Given the description of an element on the screen output the (x, y) to click on. 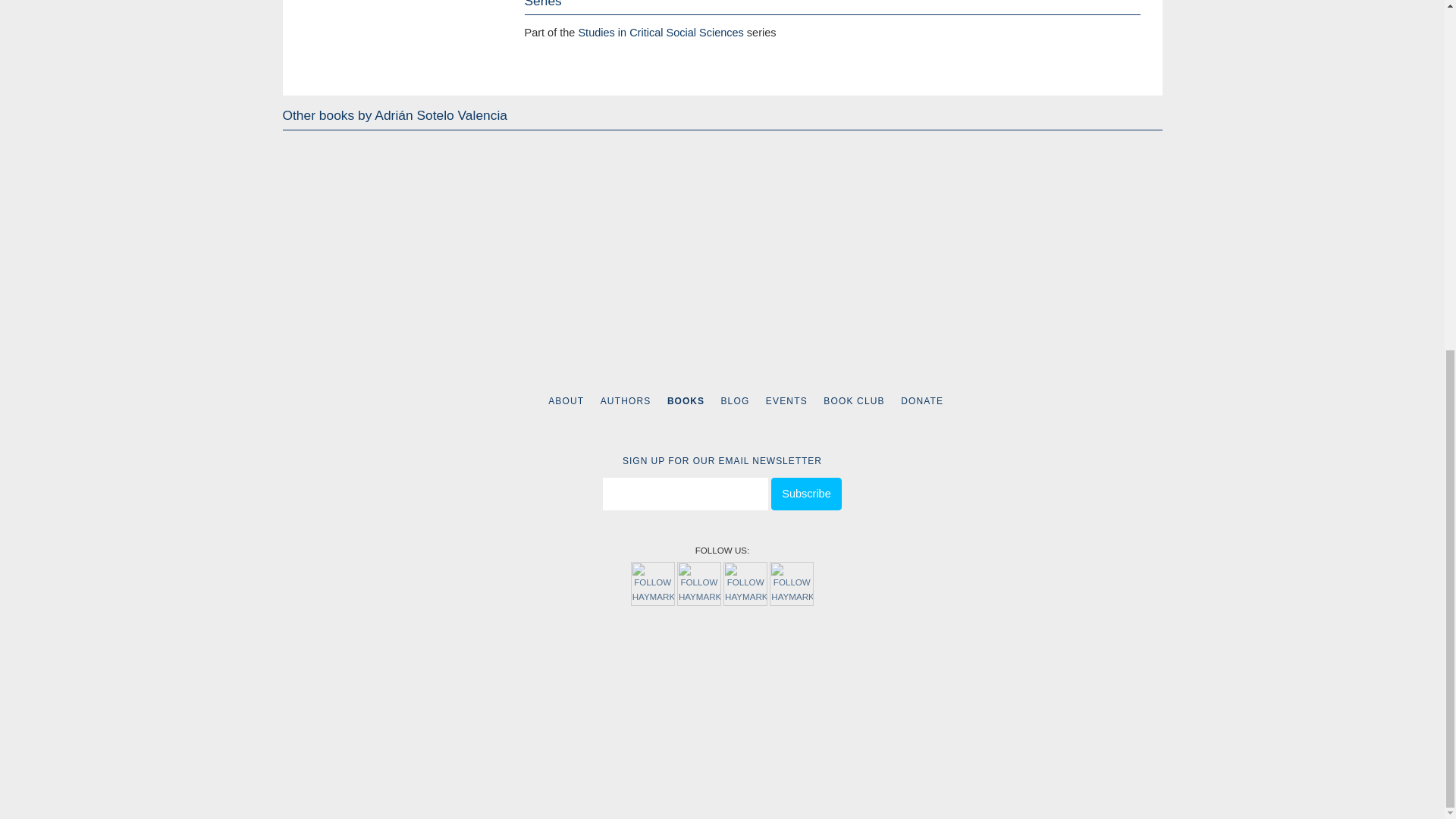
Subscribe (806, 493)
EVENTS (786, 400)
ABOUT (565, 400)
Studies in Critical Social Sciences (660, 32)
BLOG (734, 400)
BOOK CLUB (853, 400)
BOOKS (685, 400)
AUTHORS (624, 400)
DONATE (922, 400)
Subscribe (806, 493)
